Given the description of an element on the screen output the (x, y) to click on. 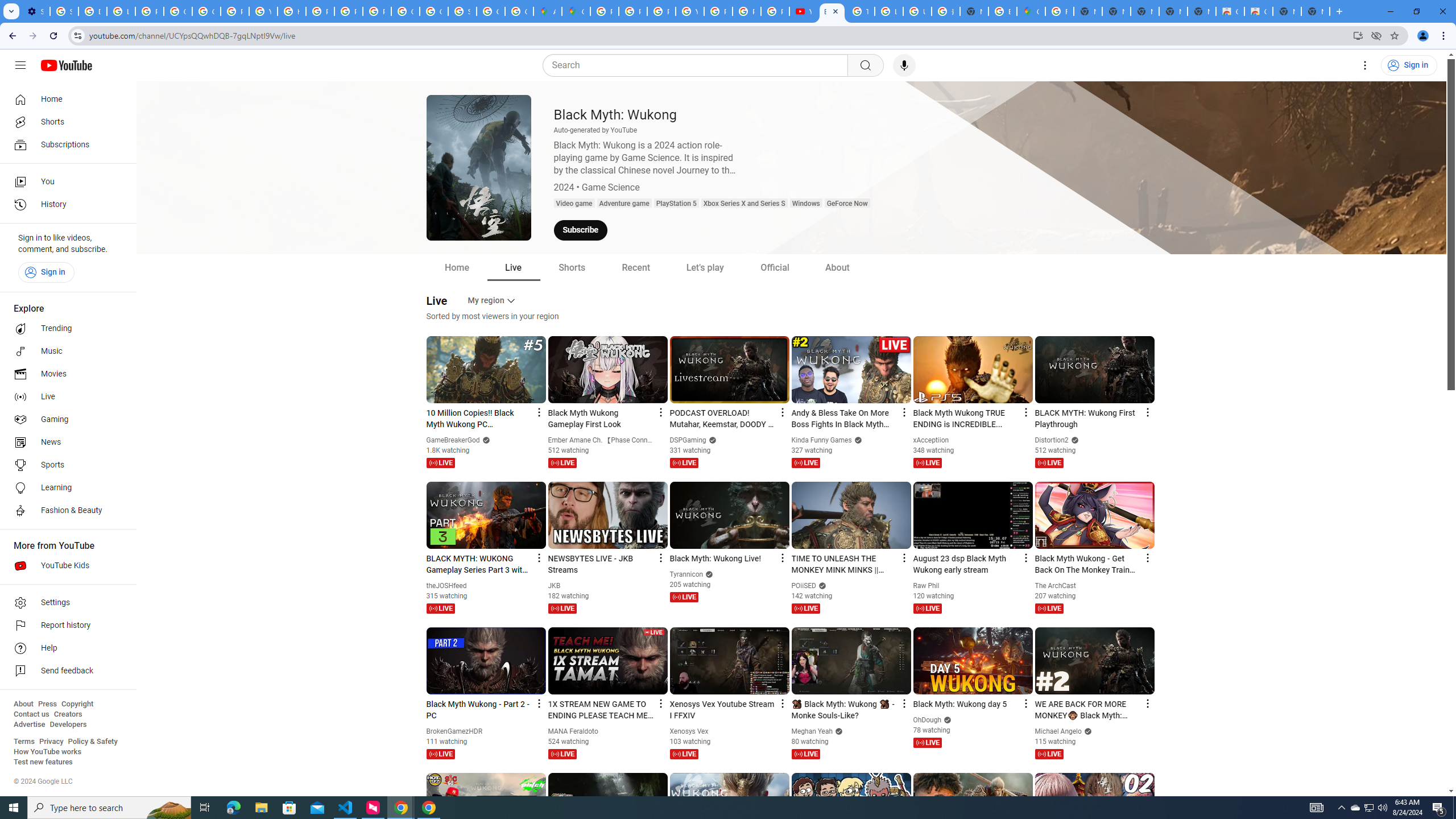
Black Myth: Wukong Live! by Tyrannicon 904 views (722, 559)
Meghan Yeah (812, 731)
DSPGaming (688, 439)
Privacy Help Center - Policies Help (661, 11)
News (64, 441)
Classic Blue - Chrome Web Store (1230, 11)
LIVE (1048, 754)
Settings - On startup (35, 11)
Report history (64, 625)
Live (64, 396)
Movies (64, 373)
MANA Feraldoto (572, 731)
